Given the description of an element on the screen output the (x, y) to click on. 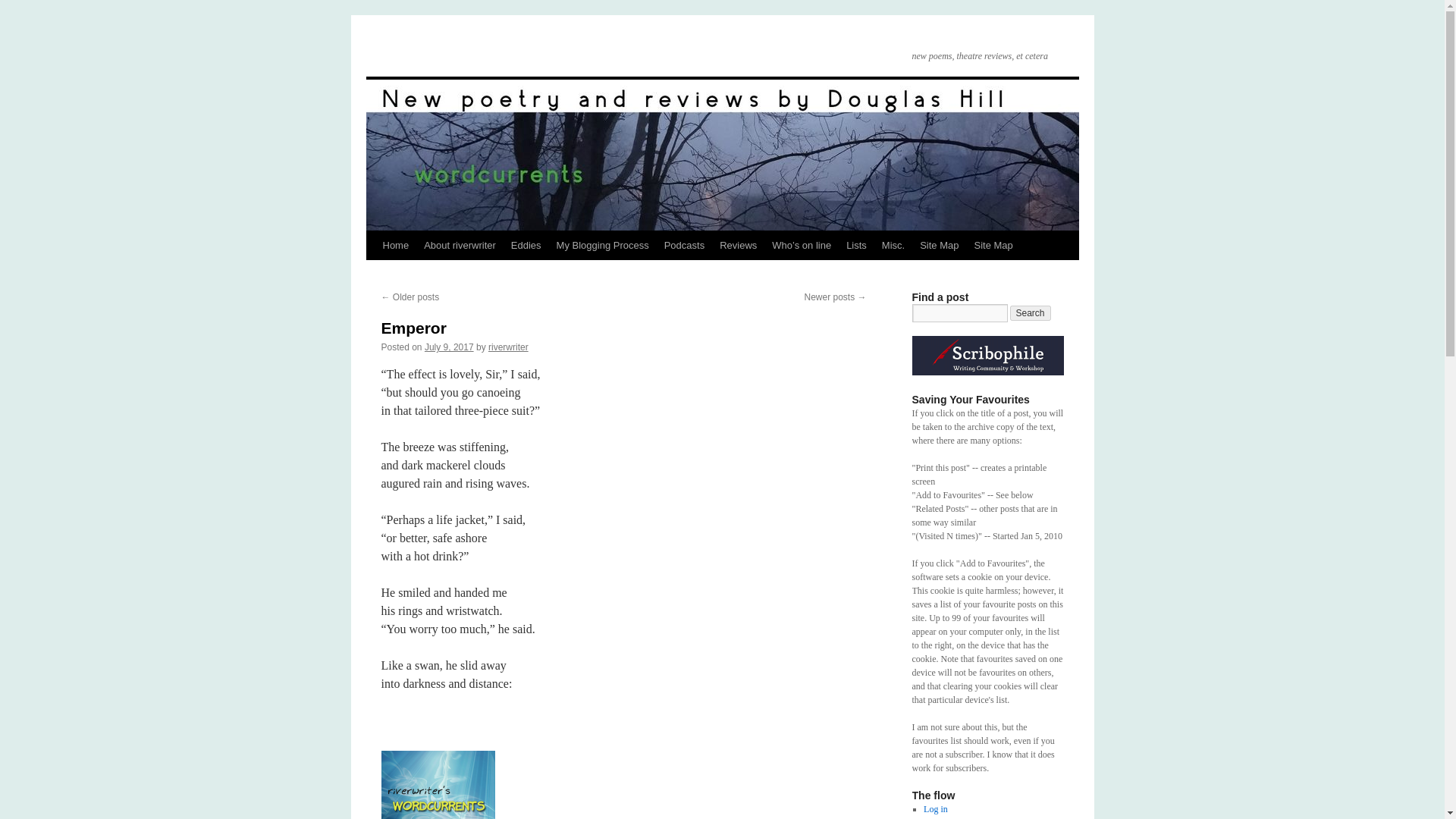
July 9, 2017 (449, 347)
About riverwriter (459, 245)
Site Map (939, 245)
View all posts by riverwriter (507, 347)
Eddies (525, 245)
Emperor (412, 327)
Home (395, 245)
Misc. (893, 245)
8:02 pm (449, 347)
Reviews (737, 245)
